Given the description of an element on the screen output the (x, y) to click on. 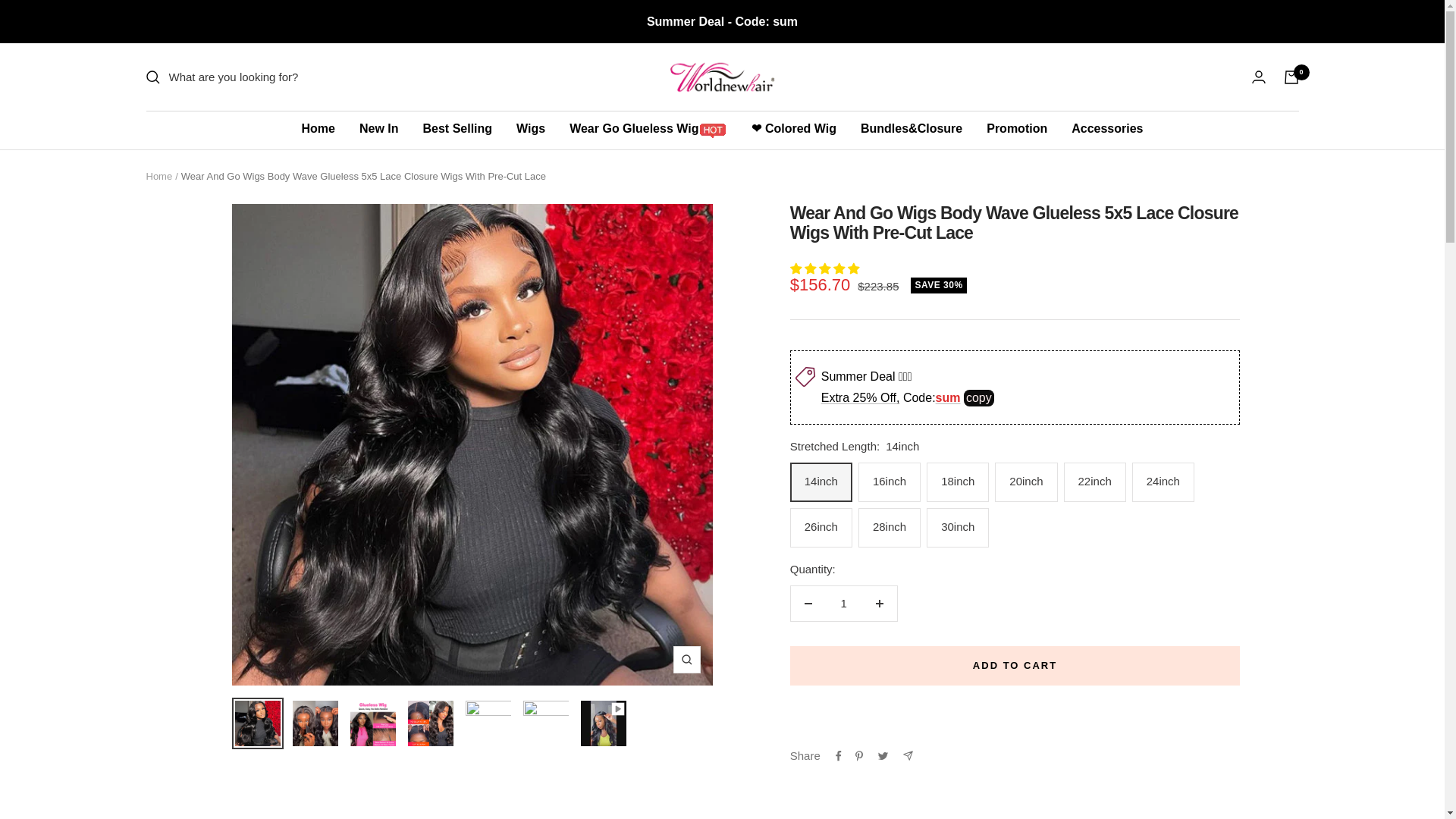
Home (317, 128)
Wigs (530, 128)
Zoom (686, 659)
worldnewhair (721, 76)
Home (158, 175)
Promotion (1016, 128)
0 (1290, 77)
